Given the description of an element on the screen output the (x, y) to click on. 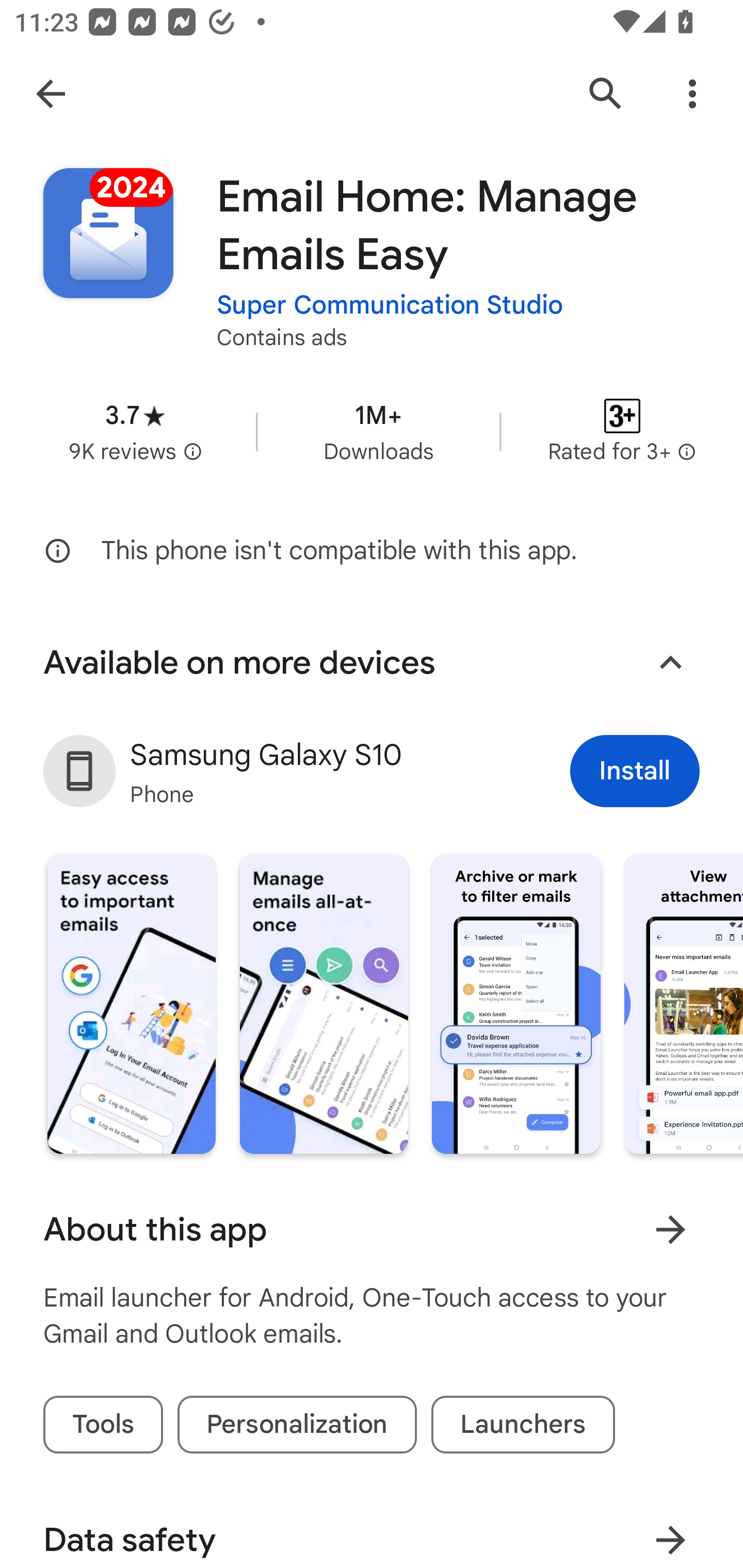
Navigate up (50, 93)
Search Google Play (605, 93)
More Options (692, 93)
Super Communication Studio (389, 304)
Average rating 3.7 stars in 9 thousand reviews (135, 431)
Content rating Rated for 3+ (622, 431)
Available on more devices Collapse (371, 662)
Collapse (670, 662)
Install (634, 770)
Screenshot "1" of "6" (130, 1004)
Screenshot "2" of "6" (323, 1004)
Screenshot "3" of "6" (515, 1004)
Screenshot "4" of "6" (683, 1004)
About this app Learn more About this app (371, 1229)
Learn more About this app (670, 1229)
Tools tag (102, 1424)
Personalization tag (296, 1424)
Launchers tag (523, 1424)
Data safety Learn more about data safety (371, 1528)
Learn more about data safety (670, 1532)
